Given the description of an element on the screen output the (x, y) to click on. 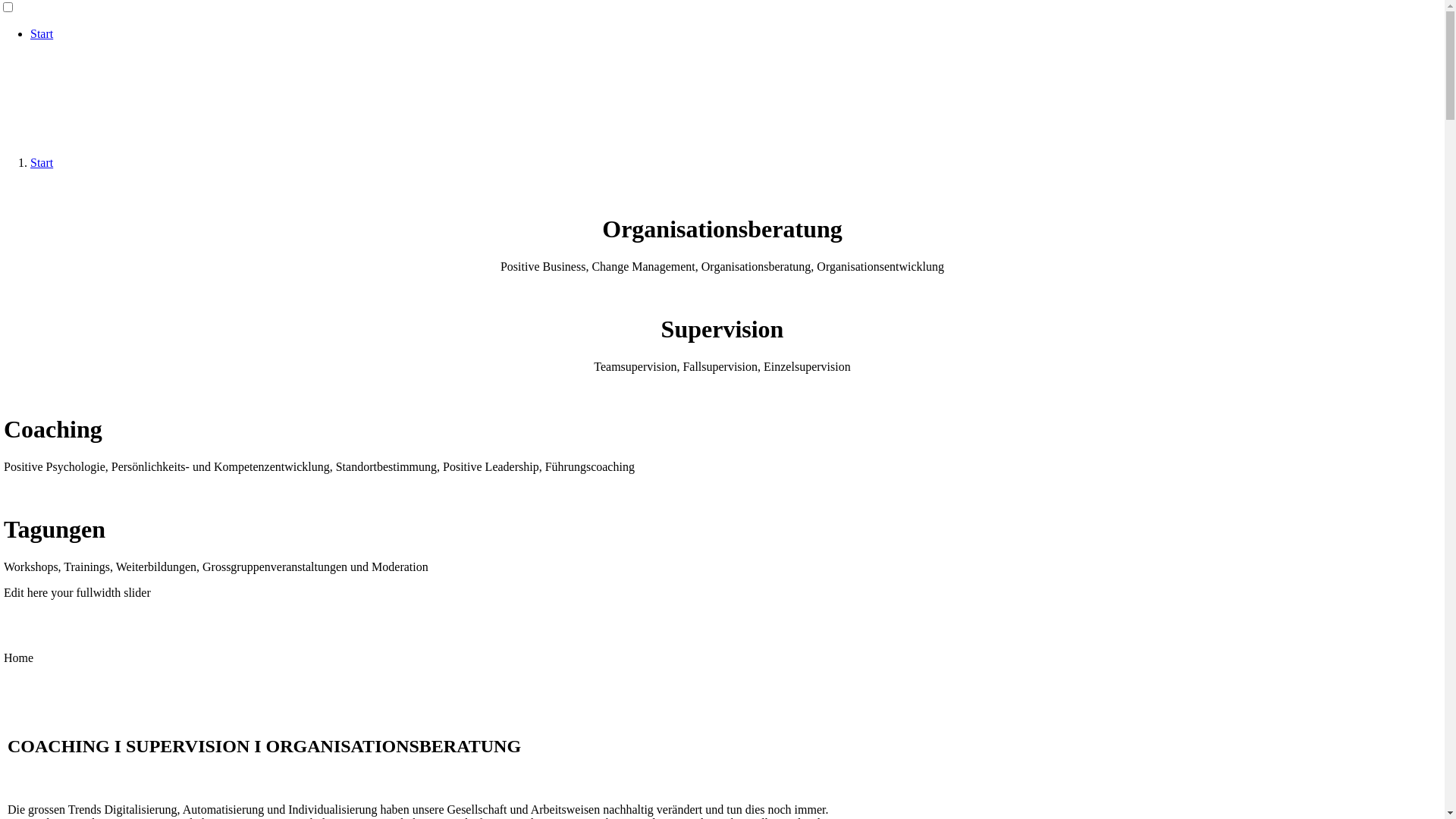
Start Element type: text (41, 162)
Start Element type: text (41, 33)
